Given the description of an element on the screen output the (x, y) to click on. 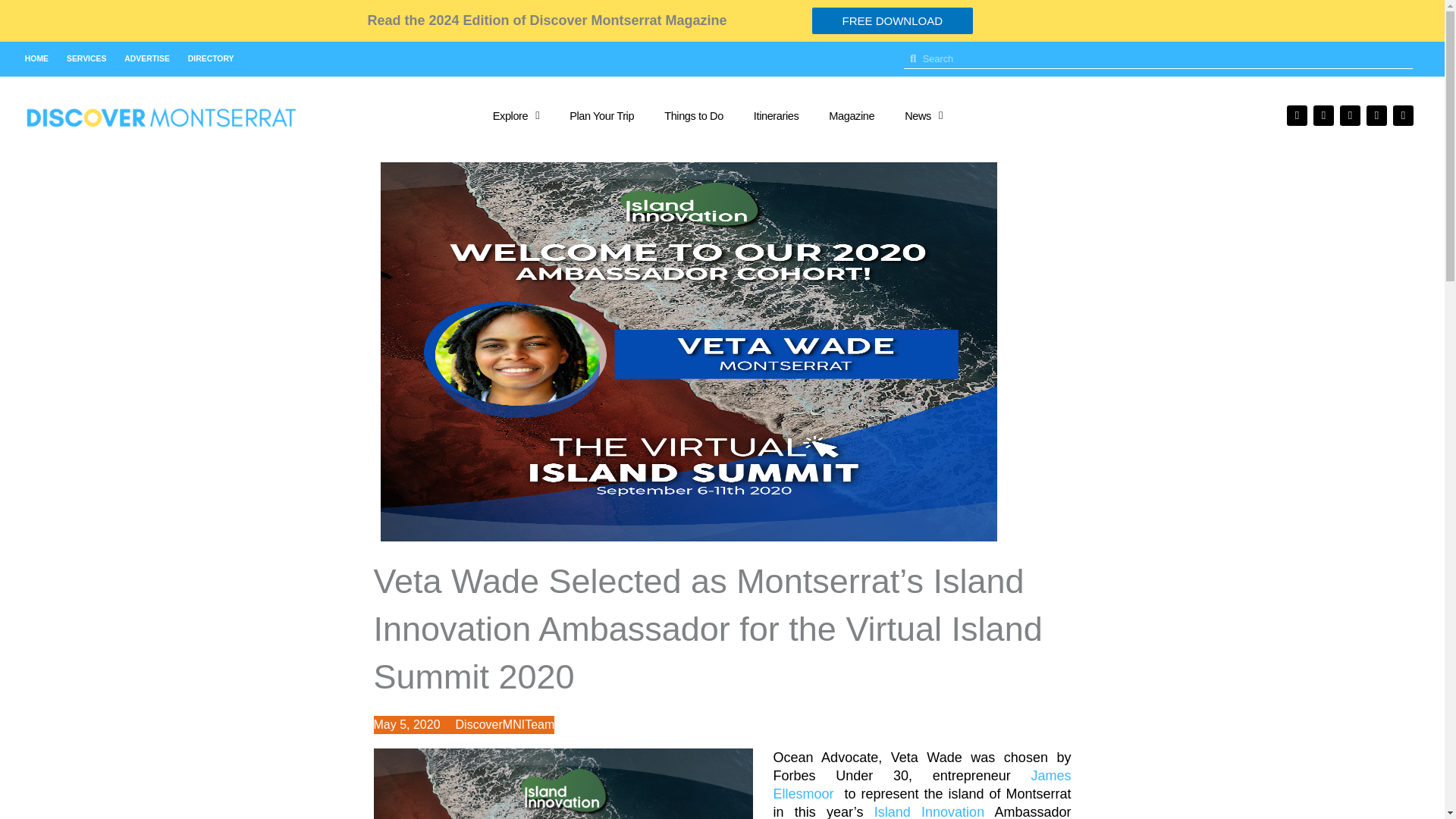
Itineraries (775, 115)
DIRECTORY (211, 58)
HOME (37, 58)
Explore (515, 115)
Things to Do (693, 115)
SERVICES (86, 58)
ADVERTISE (146, 58)
FREE DOWNLOAD (891, 20)
Magazine (851, 115)
Plan Your Trip (601, 115)
News (923, 115)
